Given the description of an element on the screen output the (x, y) to click on. 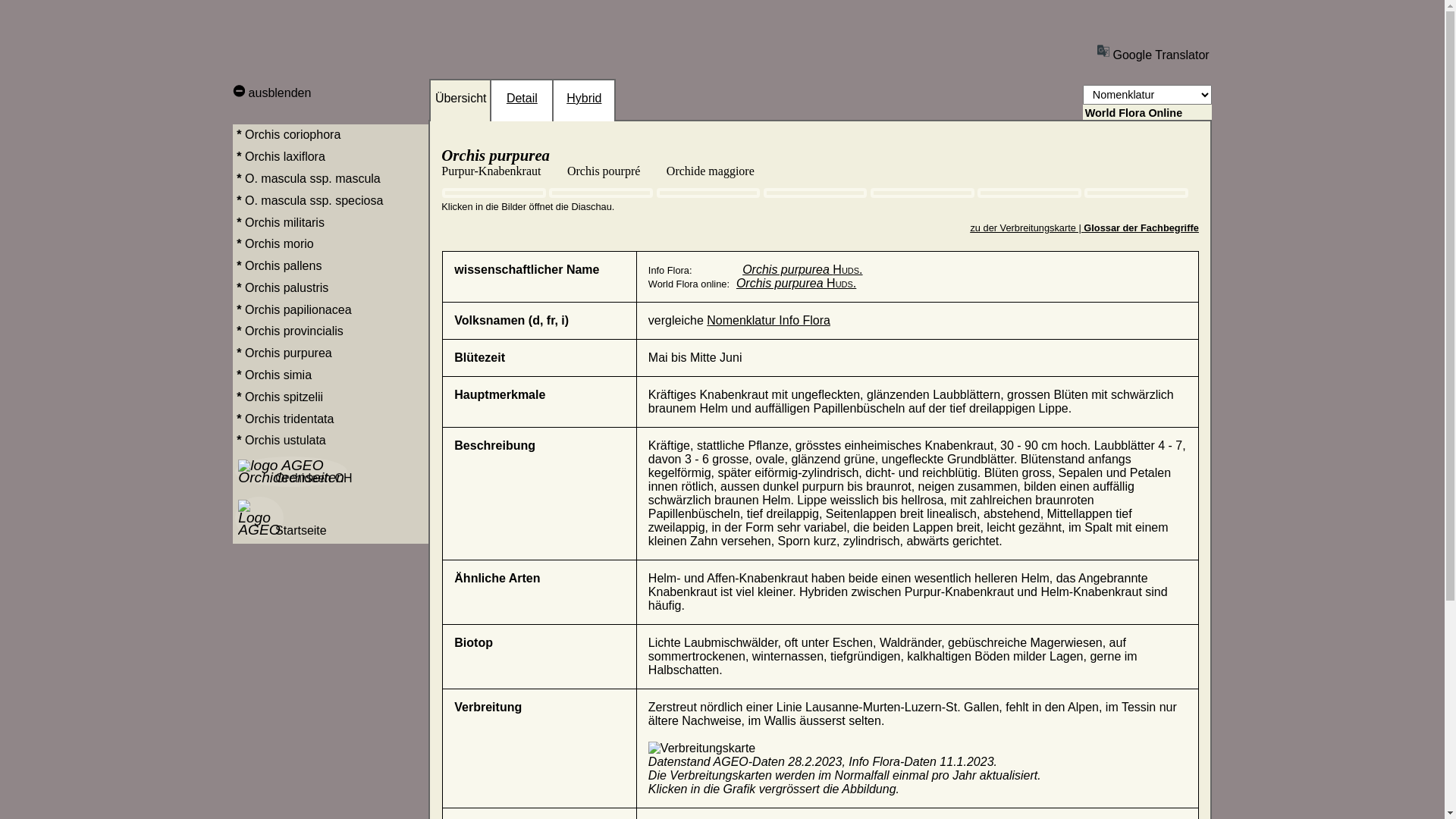
6_Juerg_Luder Element type: hover (1029, 192)
ausblenden Element type: text (271, 92)
Orchis ustulata Element type: text (330, 440)
Orchideen CH Element type: text (330, 471)
1_Guido_Viel_1 Element type: hover (494, 192)
Orchis laxiflora Element type: text (330, 157)
Hybrid Element type: text (584, 106)
Orchis purpurea Element type: text (330, 353)
  Element type: text (431, 78)
Nomenklatur Info Flora Element type: text (768, 319)
Orchis papilionacea Element type: text (330, 309)
Detail Element type: text (521, 106)
Orchis palustris Element type: text (330, 287)
3_Thomas_Ulrich Element type: hover (708, 192)
4_Roland_Wueest Element type: hover (815, 192)
Orchis tridentata Element type: text (330, 418)
5_Juerg_Luder Element type: hover (922, 192)
Orchis provincialis Element type: text (330, 331)
Orchis purpurea Huds. Element type: text (796, 282)
Orchis coriophora Element type: text (330, 135)
Google Translator Element type: text (1152, 50)
Orchis spitzelii Element type: text (330, 396)
Glossar der Fachbegriffe Element type: text (1140, 226)
O. mascula ssp. speciosa Element type: text (330, 200)
zu der Verbreitungskarte Element type: text (1022, 226)
Verbreitungskarte Element type: hover (701, 748)
Orchis purpurea Huds. Element type: text (802, 269)
Orchis pallens Element type: text (330, 266)
3_Christophe_Boillat Element type: hover (600, 192)
zur Startseite Element type: hover (305, 45)
Startseite Element type: text (330, 517)
6_Walter_Luessi Element type: hover (1136, 192)
O. mascula ssp. mascula Element type: text (330, 179)
Orchis simia Element type: text (330, 375)
Orchis militaris Element type: text (330, 222)
Orchis morio Element type: text (330, 244)
